Given the description of an element on the screen output the (x, y) to click on. 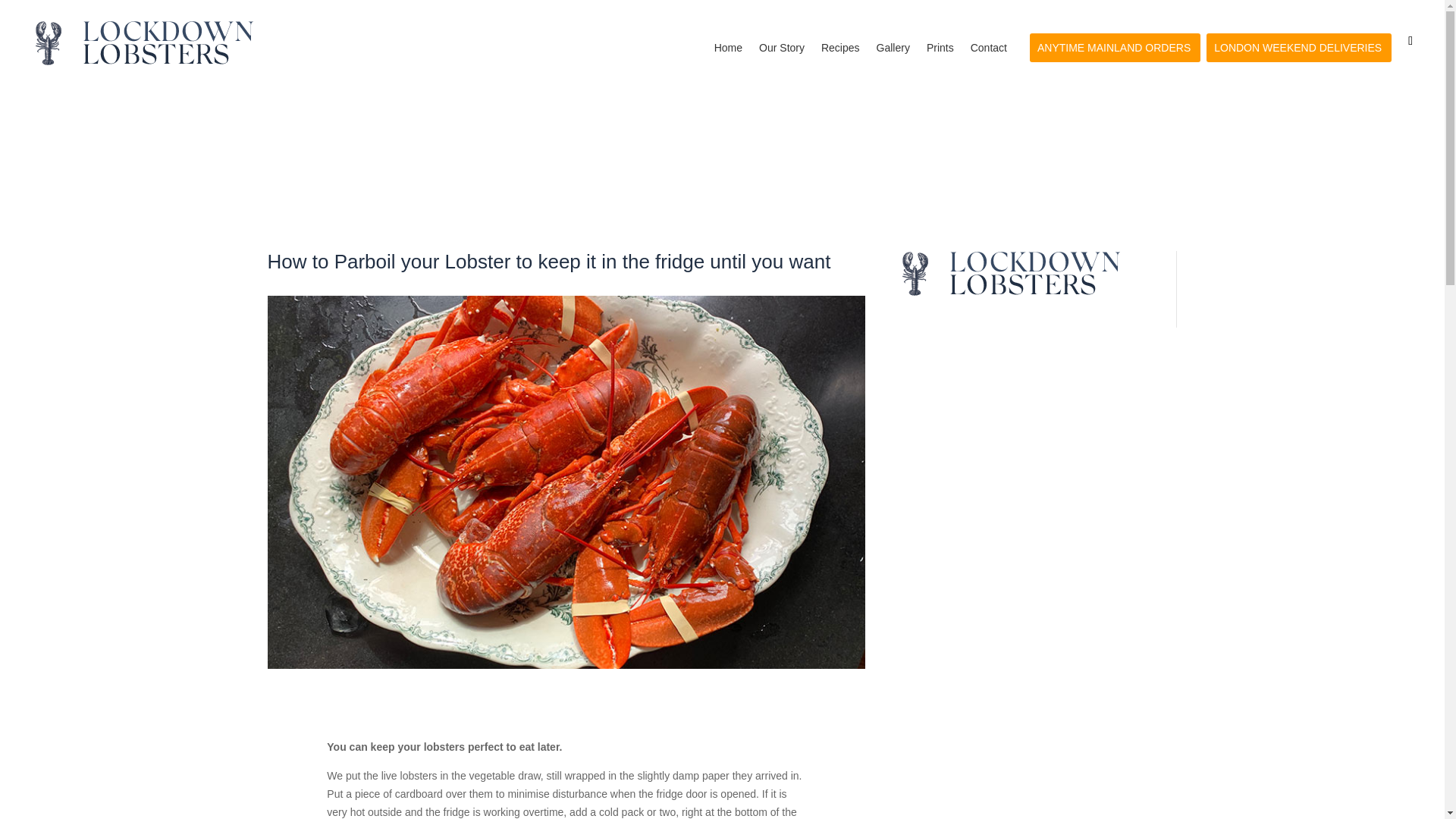
Our Story (781, 64)
LONDON WEEKEND DELIVERIES (1297, 64)
ANYTIME MAINLAND ORDERS (1113, 64)
